Given the description of an element on the screen output the (x, y) to click on. 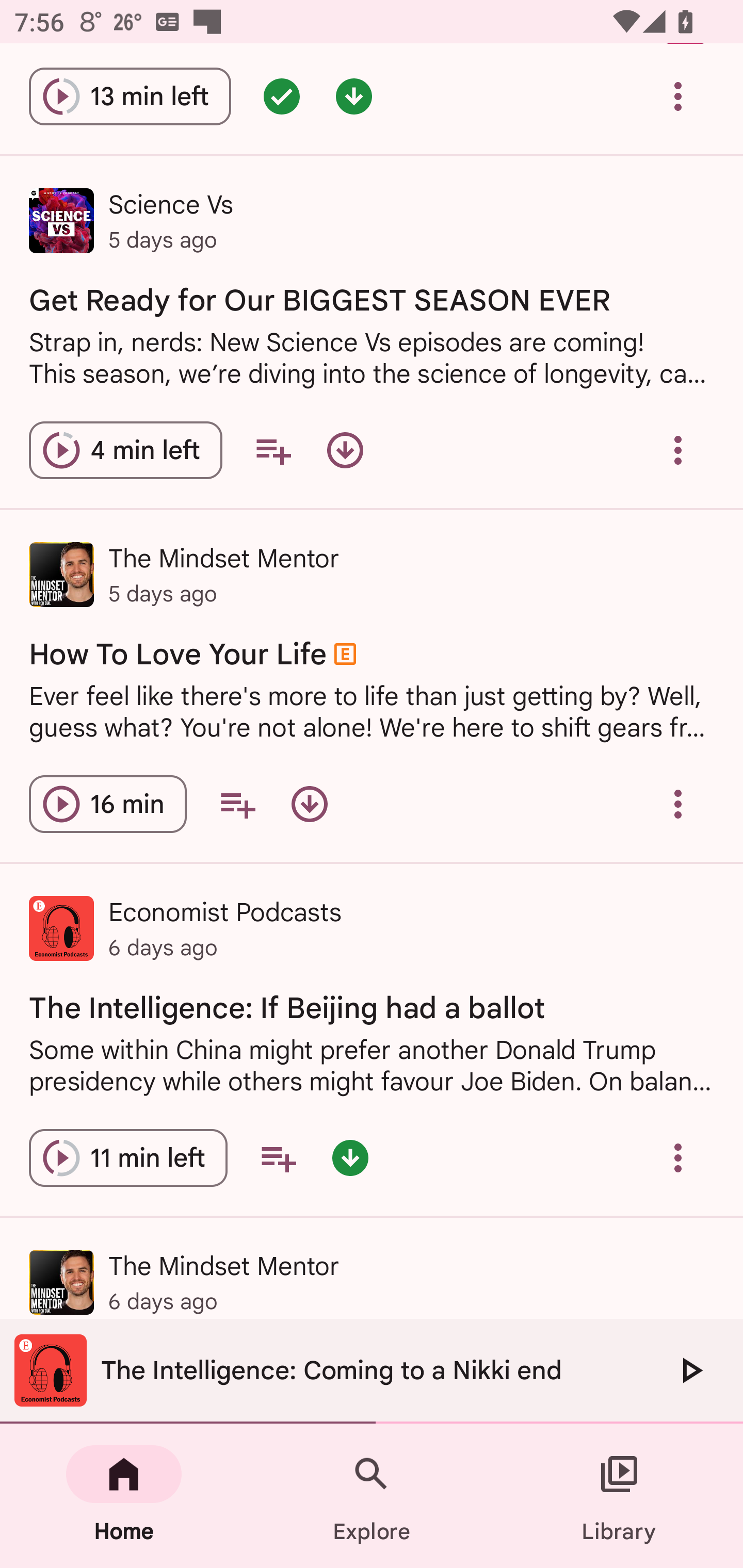
Episode queued - double tap for options (281, 96)
Episode downloaded - double tap for options (354, 96)
Overflow menu (677, 96)
Add to your queue (273, 450)
Download episode (345, 450)
Overflow menu (677, 450)
Play episode How To Love Your Life 16 min (107, 803)
Add to your queue (237, 803)
Download episode (309, 803)
Overflow menu (677, 803)
Add to your queue (278, 1157)
Episode downloaded - double tap for options (350, 1157)
Overflow menu (677, 1157)
Play (690, 1370)
Explore (371, 1495)
Library (619, 1495)
